Given the description of an element on the screen output the (x, y) to click on. 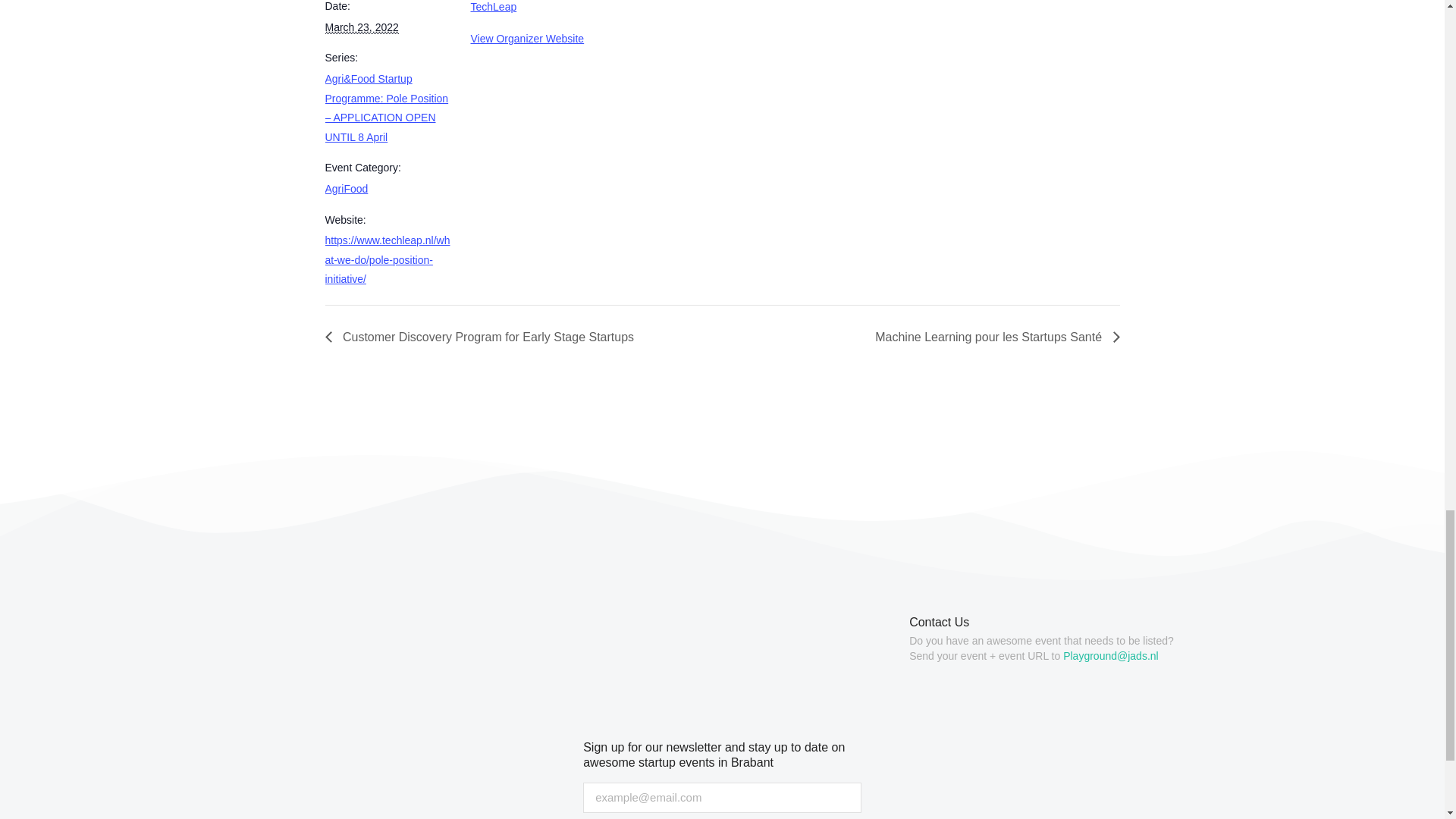
2022-03-23 (360, 27)
TechLeap (493, 6)
Contact Us (938, 621)
View Organizer Website (526, 38)
Customer Discovery Program for Early Stage Startups (483, 336)
TechLeap (493, 6)
AgriFood (346, 188)
